Given the description of an element on the screen output the (x, y) to click on. 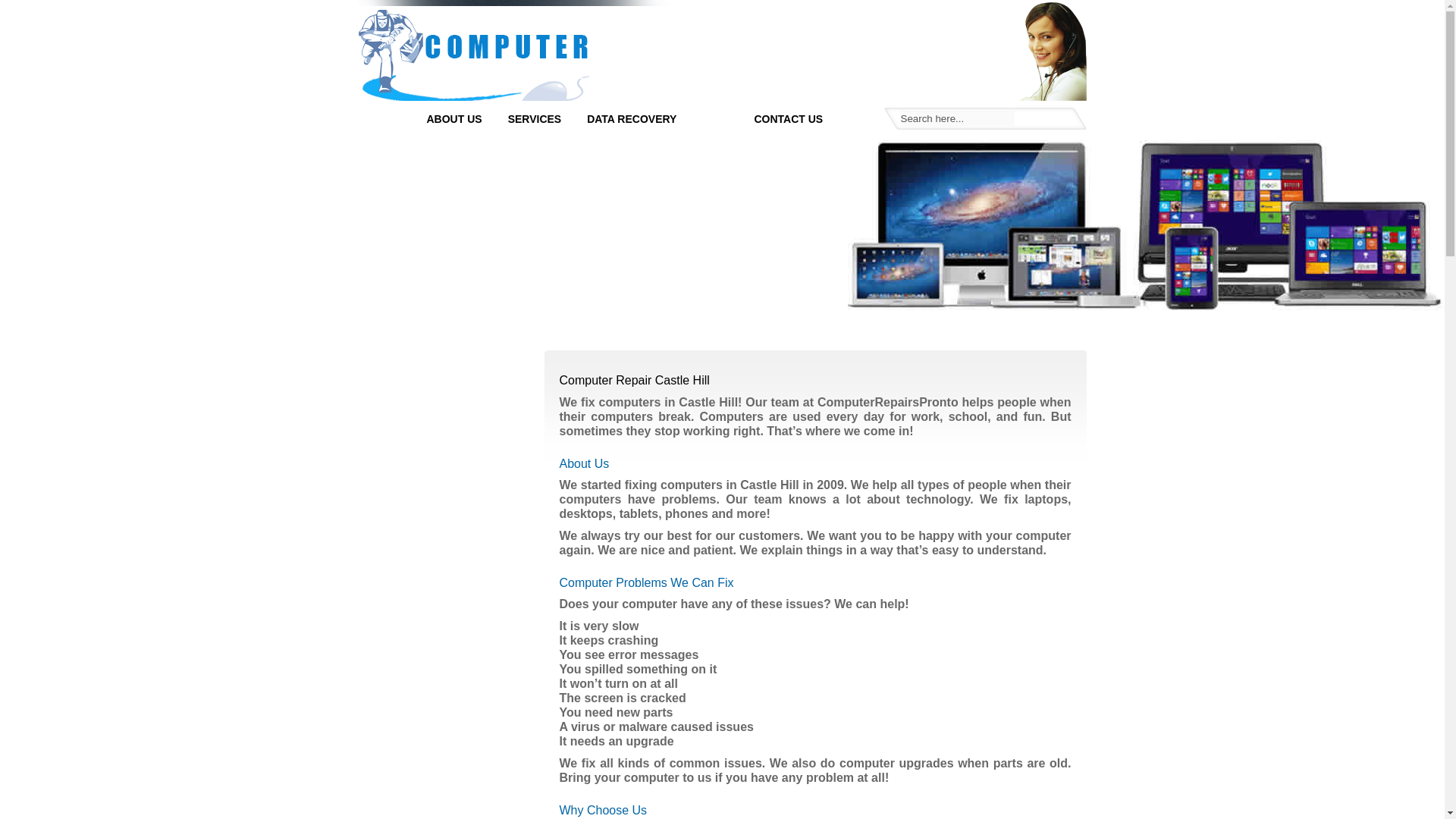
CONTACT US (788, 119)
Search here... (957, 118)
HOME (383, 119)
SEARCH (1048, 118)
Search here... (957, 118)
SEARCH (1048, 118)
SERVICES (534, 119)
SEARCH (1048, 118)
DATA RECOVERY (631, 119)
ABOUT US (453, 119)
